Given the description of an element on the screen output the (x, y) to click on. 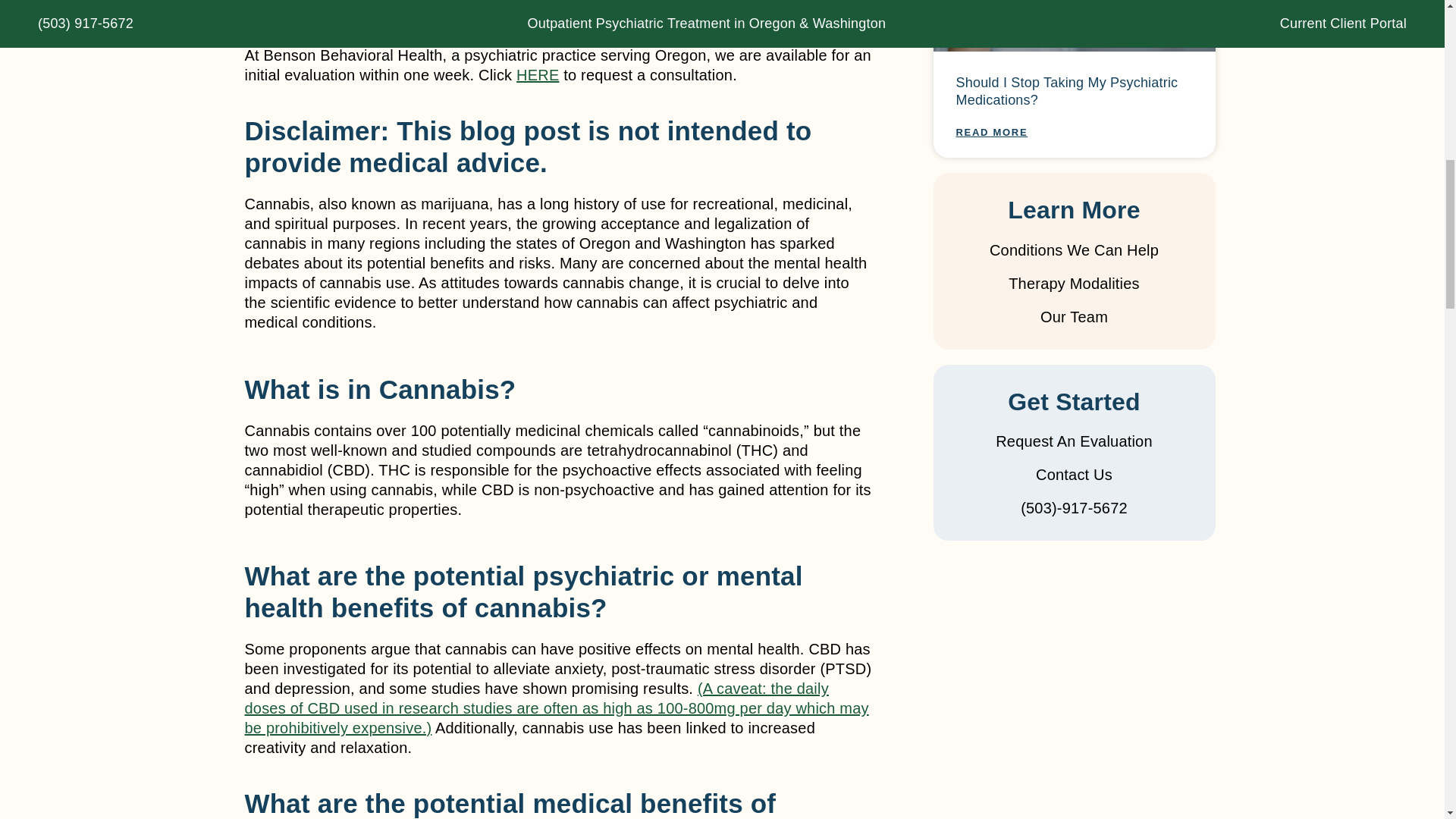
HERE (537, 74)
Conditions We Can Help (1073, 250)
Our Team (1073, 316)
Request An Evaluation (1073, 441)
Should I Stop Taking My Psychiatric Medications? (1066, 91)
READ MORE (991, 132)
Therapy Modalities (1073, 283)
